Given the description of an element on the screen output the (x, y) to click on. 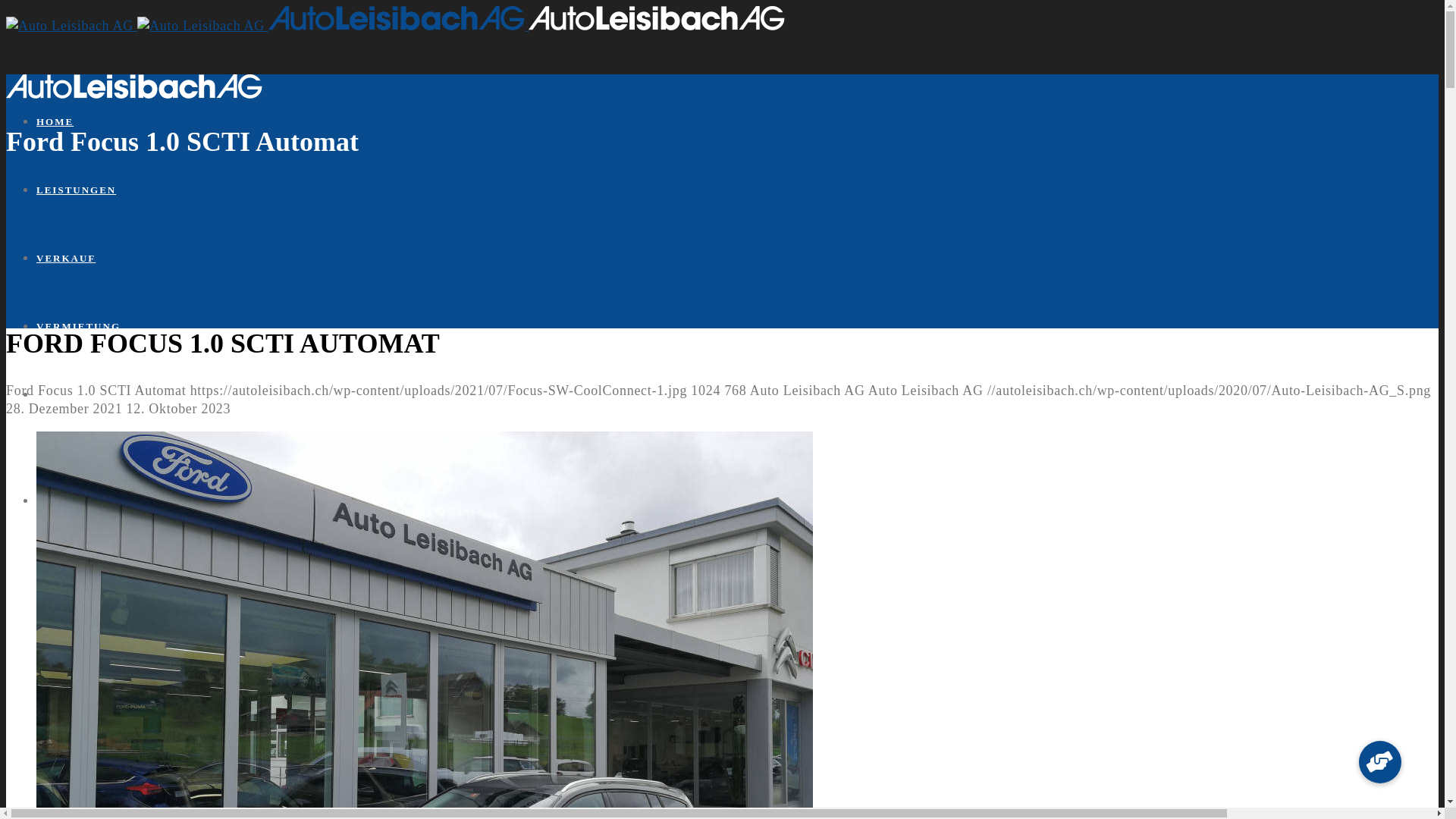
Offene Stellen Element type: text (107, 457)
KONTAKT Element type: text (66, 500)
VERKAUF Element type: text (65, 257)
HOME Element type: text (54, 121)
Pannenhilfe le Garage Element type: text (128, 602)
Unser Team Element type: text (99, 439)
VERMIETUNG Element type: text (78, 326)
Pannenhilfe Ford Element type: text (114, 564)
LEISTUNGEN Element type: text (76, 189)
FIRMA Element type: text (56, 394)
Anrufen Element type: text (89, 545)
